Given the description of an element on the screen output the (x, y) to click on. 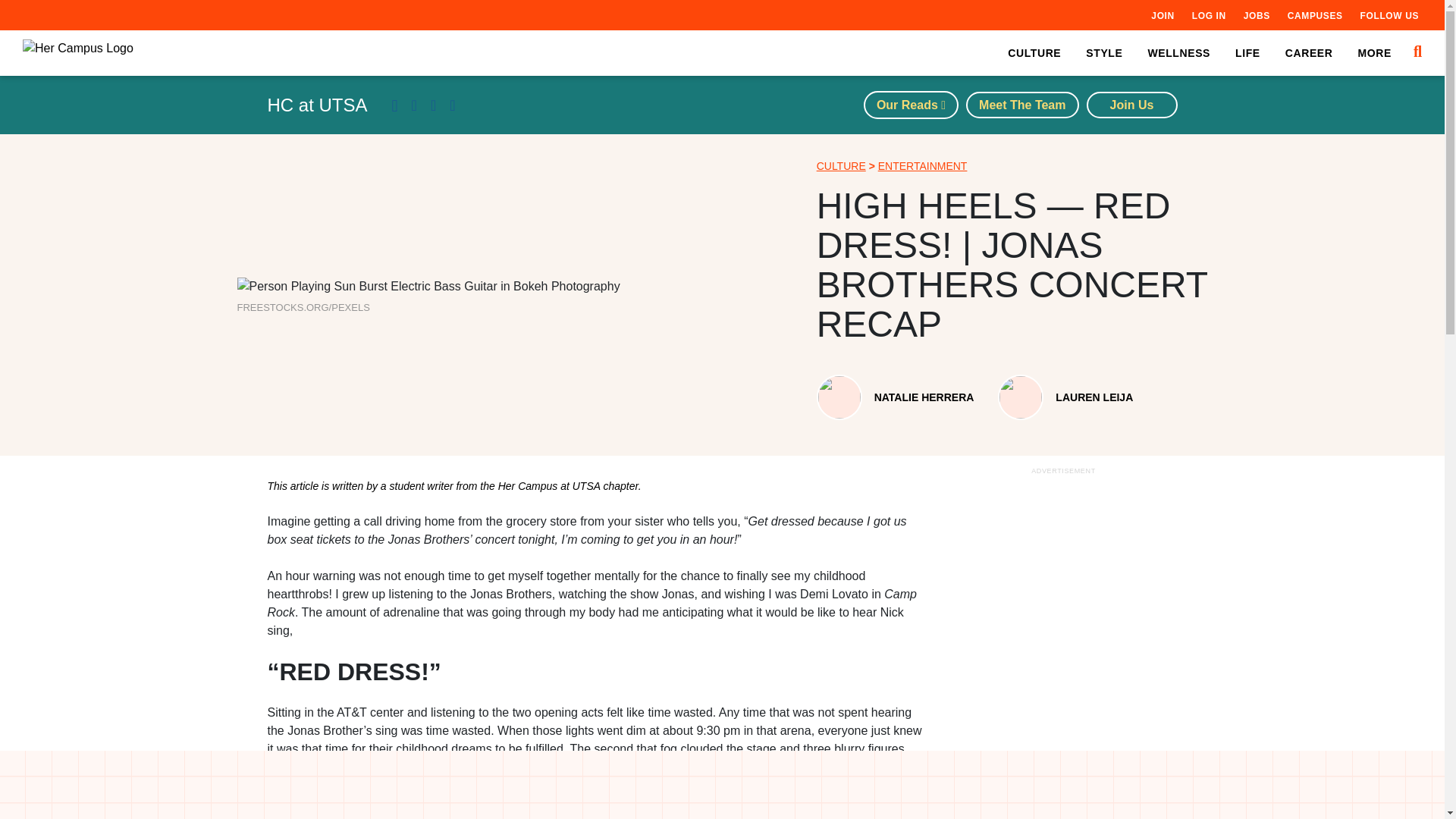
JOBS (1256, 15)
LOG IN (1208, 15)
CAMPUSES (1314, 15)
JOIN (1162, 15)
